Given the description of an element on the screen output the (x, y) to click on. 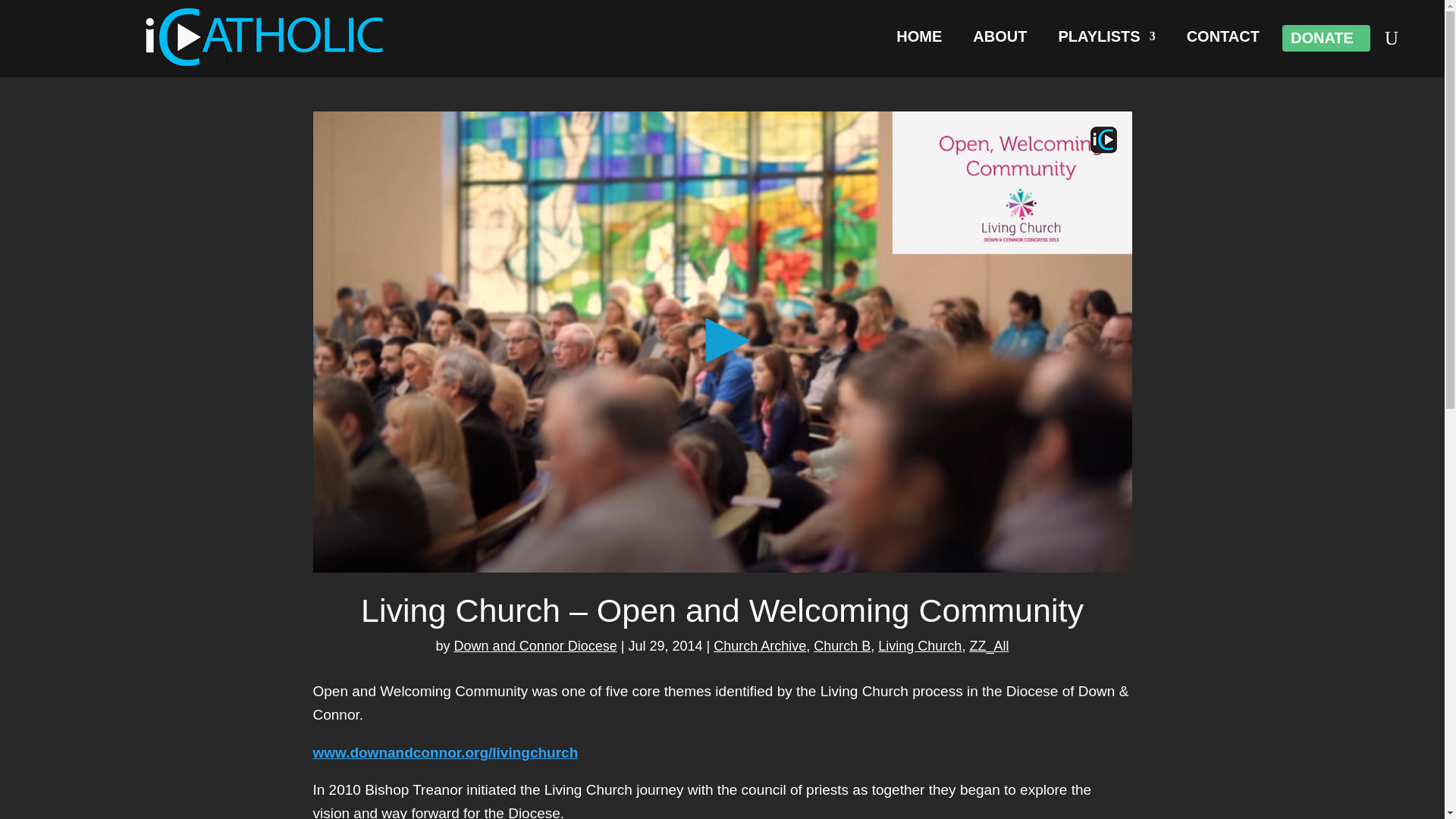
Posts by Down and Connor Diocese (535, 645)
PLAYLISTS (1106, 39)
ABOUT (999, 39)
DONATE (1322, 40)
iCatholic-logo-2021 (265, 36)
HOME (919, 39)
CONTACT (1222, 39)
